Given the description of an element on the screen output the (x, y) to click on. 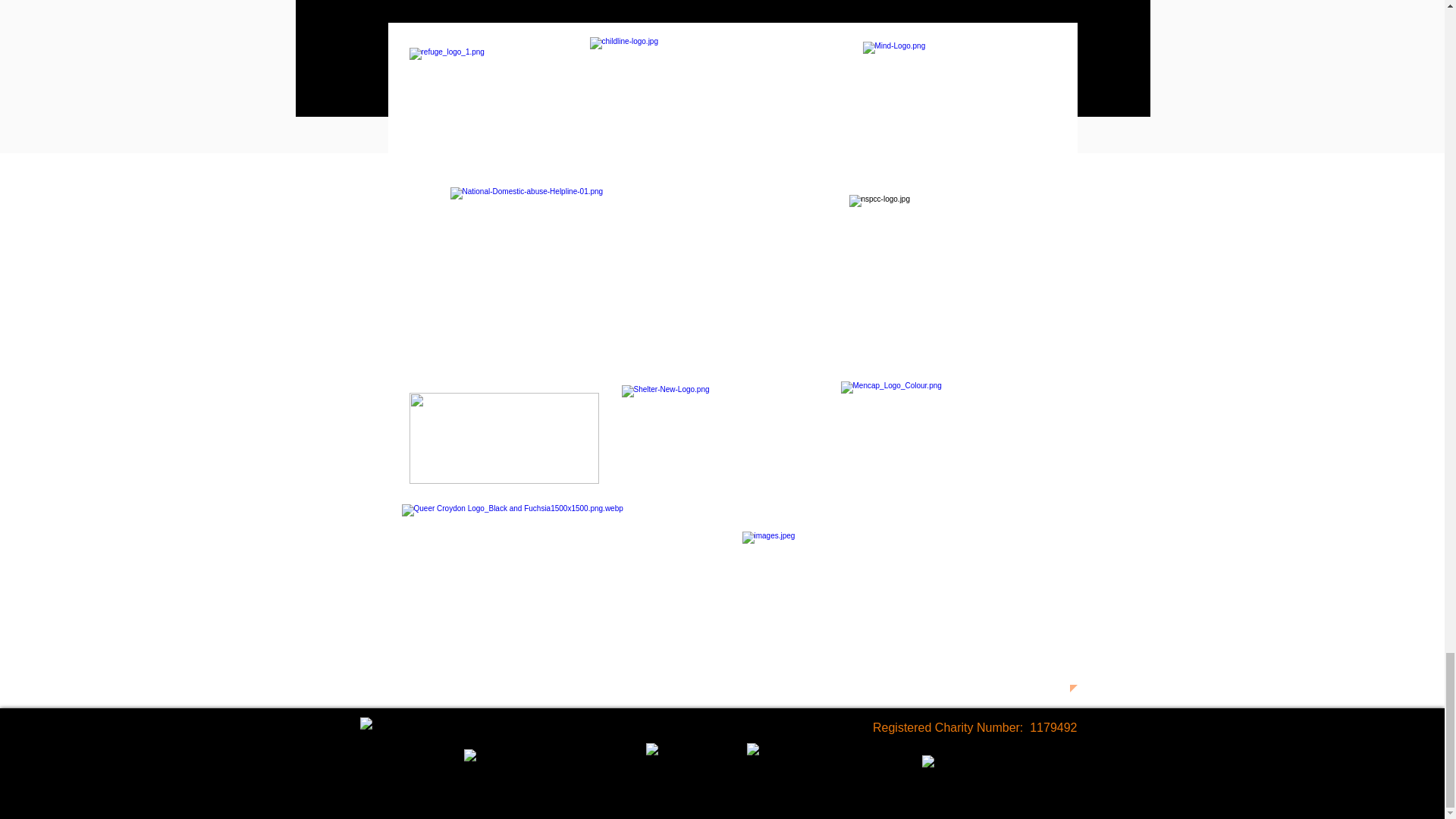
Crisis-logo.png (503, 438)
